Given the description of an element on the screen output the (x, y) to click on. 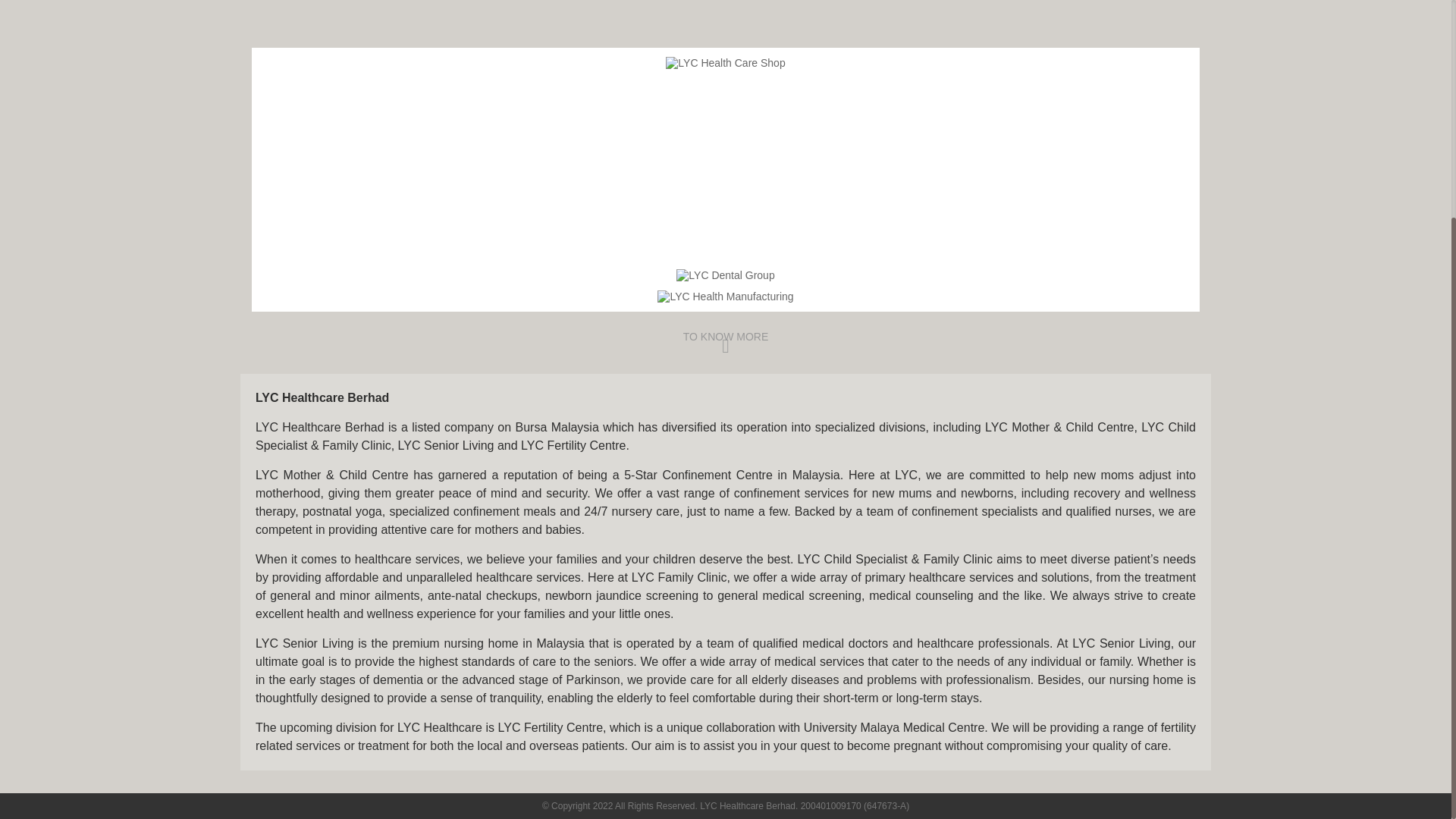
TO KNOW MORE (725, 342)
